Given the description of an element on the screen output the (x, y) to click on. 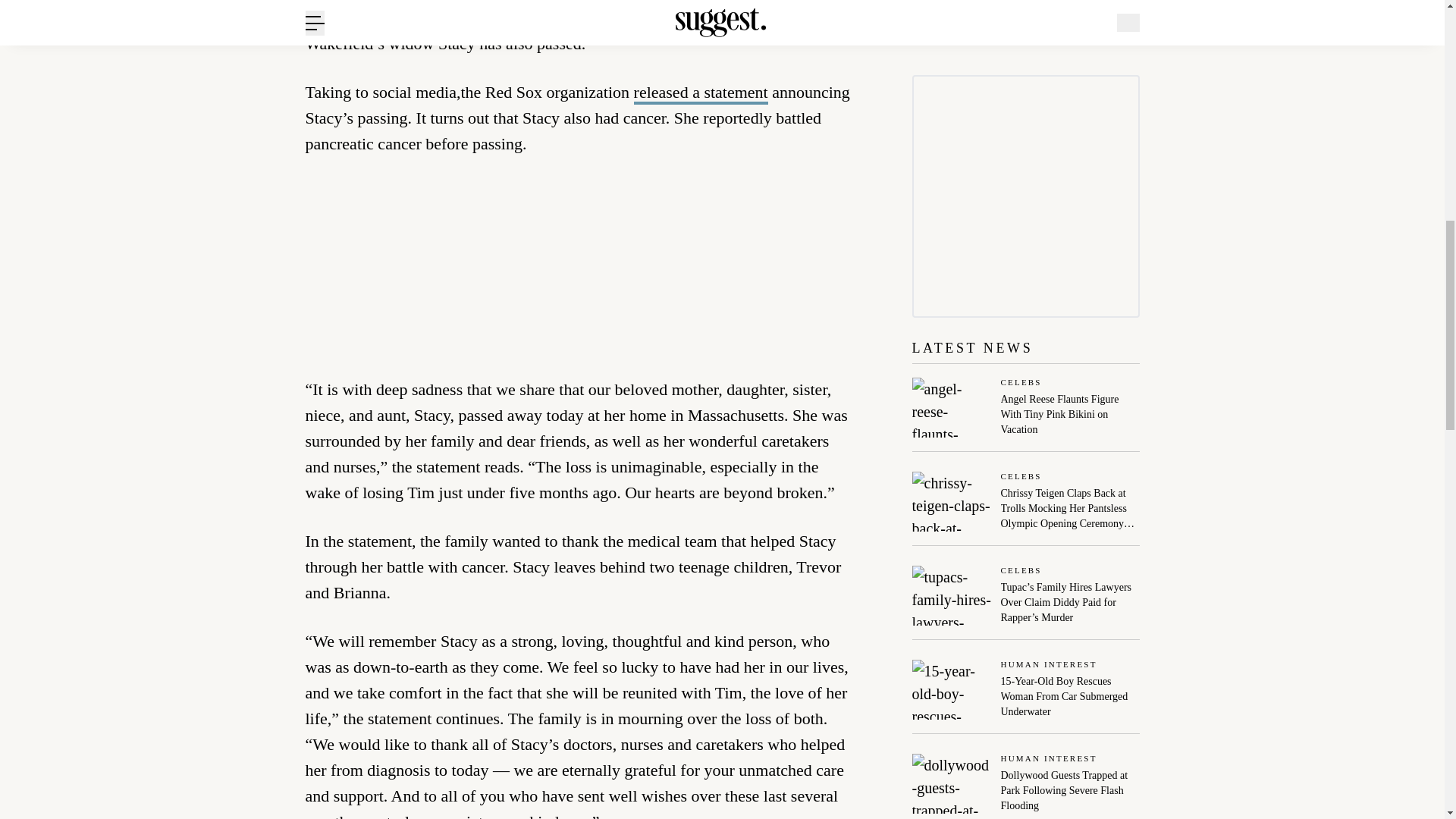
Celebs (1070, 383)
Celebs (1070, 477)
Angel Reese Flaunts Figure With Tiny Pink Bikini on Vacation (1070, 414)
released a statement (700, 93)
battle with brain cancer (524, 19)
